Given the description of an element on the screen output the (x, y) to click on. 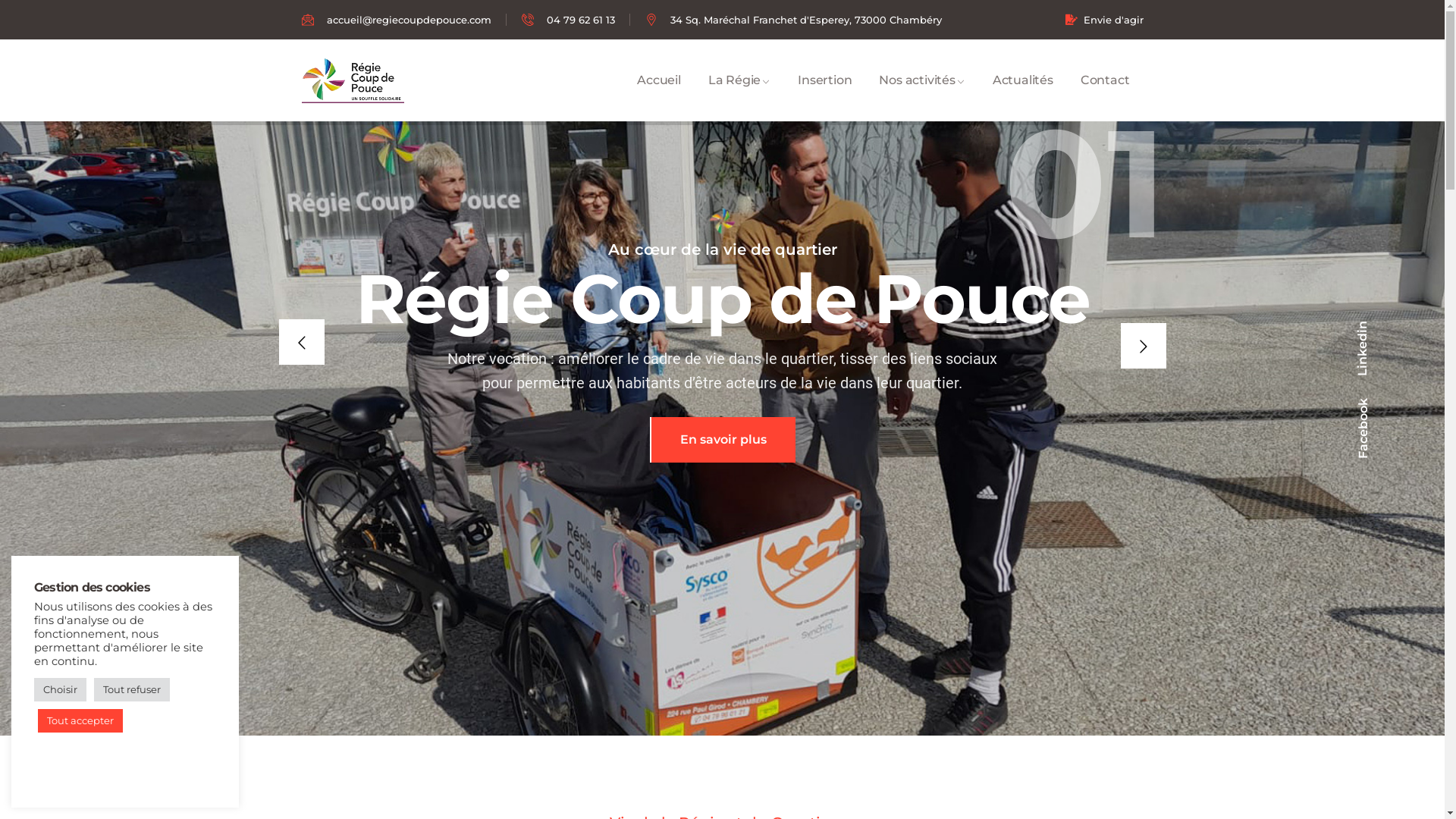
Contact Element type: text (1104, 80)
Insertion Element type: text (824, 80)
Tout refuser Element type: text (131, 689)
Envie d'agir Element type: text (1103, 19)
Linkedin Element type: text (1380, 329)
Tout accepter Element type: text (79, 720)
slider-icon Element type: hover (721, 220)
Choisir Element type: text (60, 689)
Accueil Element type: text (658, 80)
Facebook Element type: text (1382, 406)
Home Element type: hover (352, 80)
En savoir plus Element type: text (721, 439)
